Given the description of an element on the screen output the (x, y) to click on. 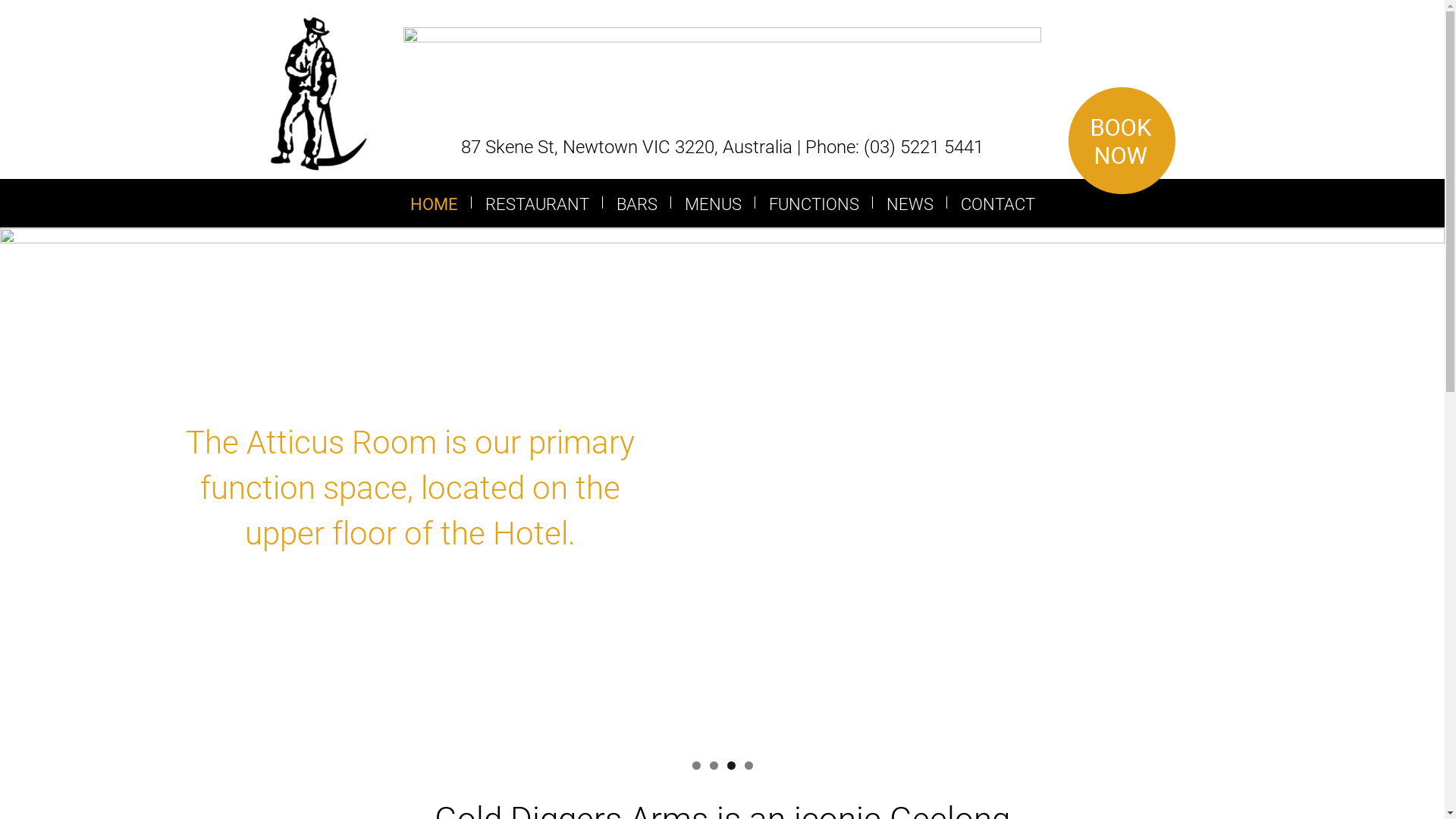
CONTACT Element type: text (997, 203)
2 Element type: text (713, 765)
functions Element type: hover (722, 488)
HOME Element type: text (432, 203)
BARS Element type: text (636, 203)
MENUS Element type: text (712, 203)
3 Element type: text (730, 765)
1 Element type: text (695, 765)
FUNCTIONS Element type: text (813, 203)
RESTAURANT Element type: text (536, 203)
4 Element type: text (748, 765)
NEWS Element type: text (909, 203)
